Given the description of an element on the screen output the (x, y) to click on. 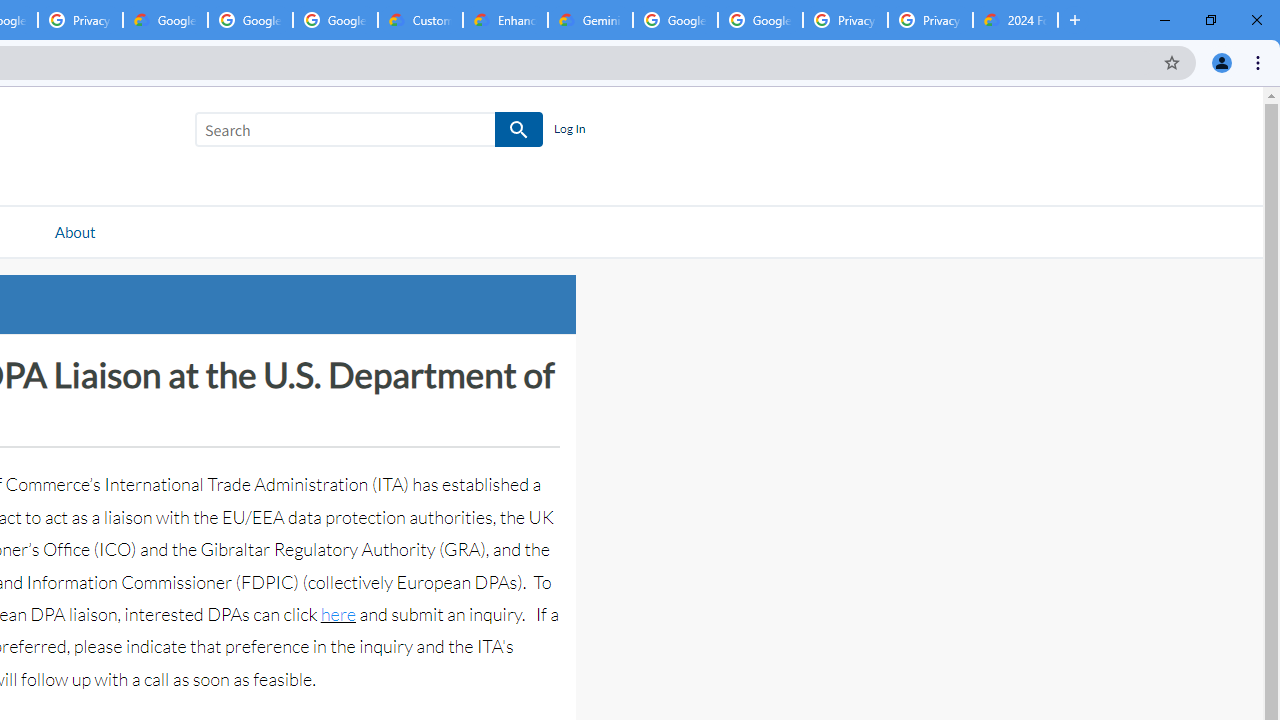
AutomationID: navitem2 (74, 231)
SEARCH (519, 130)
Search SEARCH (369, 133)
Google Cloud Platform (760, 20)
About (74, 231)
Google Workspace - Specific Terms (335, 20)
Gemini for Business and Developers | Google Cloud (590, 20)
Log In (569, 129)
